Given the description of an element on the screen output the (x, y) to click on. 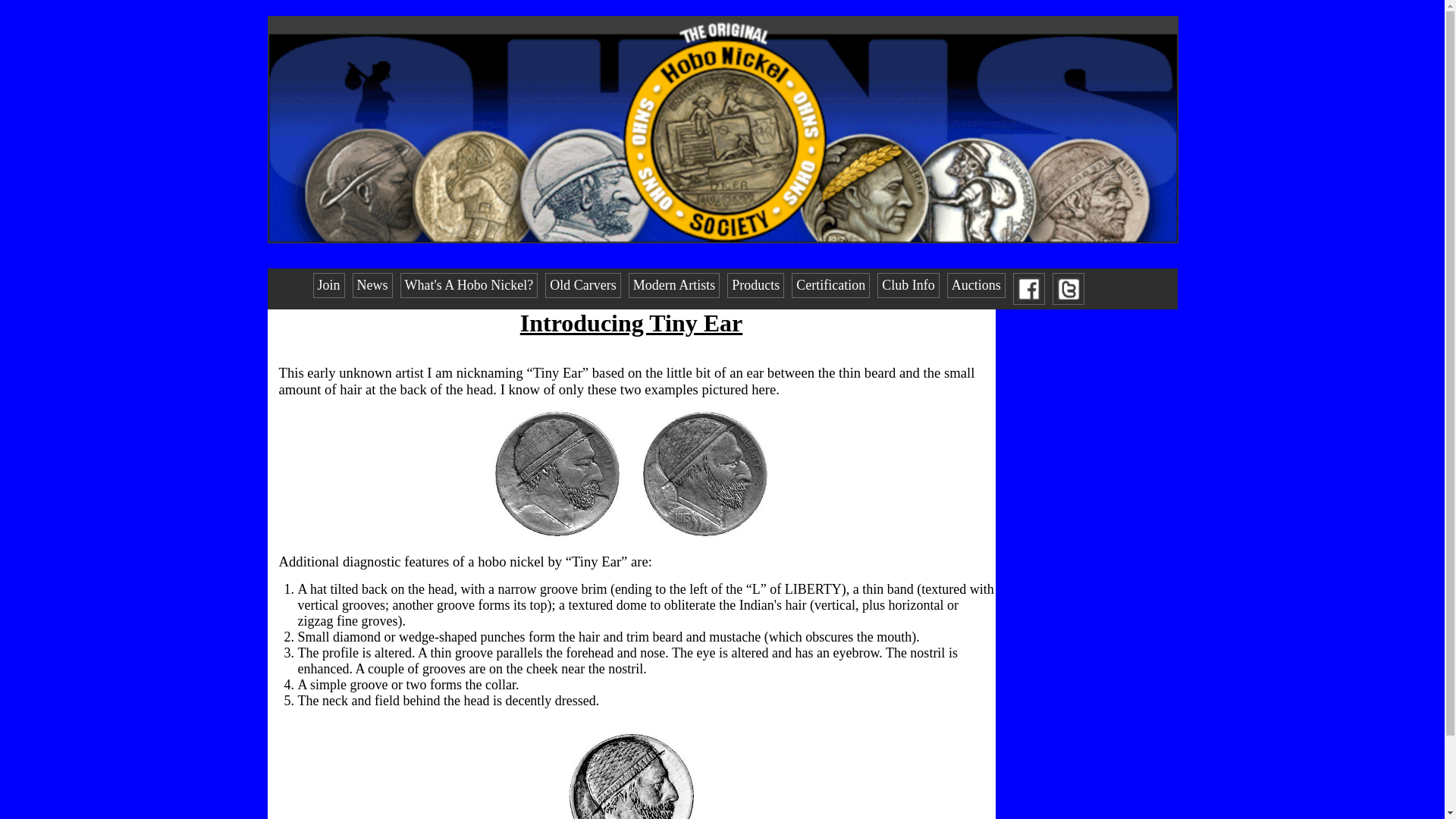
Auctions (976, 285)
Certification (830, 285)
Modern Artists (674, 285)
Join (328, 285)
Products (755, 285)
Club Info (908, 285)
News (372, 285)
What's A Hobo Nickel? (469, 285)
Old Carvers (582, 285)
